Given the description of an element on the screen output the (x, y) to click on. 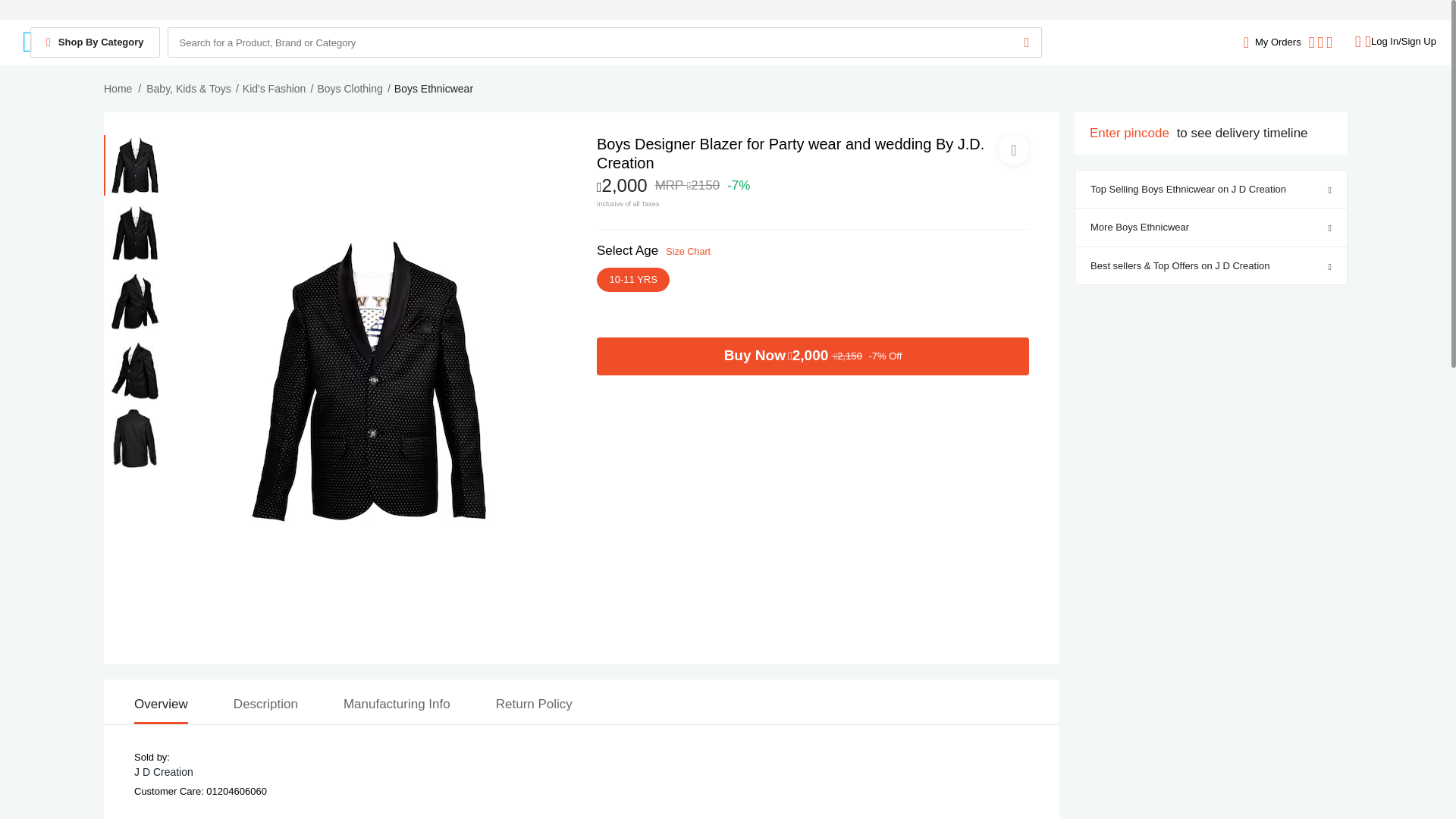
Home (117, 88)
More Boys Ethnicwear (1210, 227)
Kid's Fashion (274, 89)
Boys Ethnicwear (433, 89)
10-11 YRS (632, 279)
Top Selling Boys Ethnicwear on J D Creation (1210, 188)
Boys Clothing (349, 89)
